Given the description of an element on the screen output the (x, y) to click on. 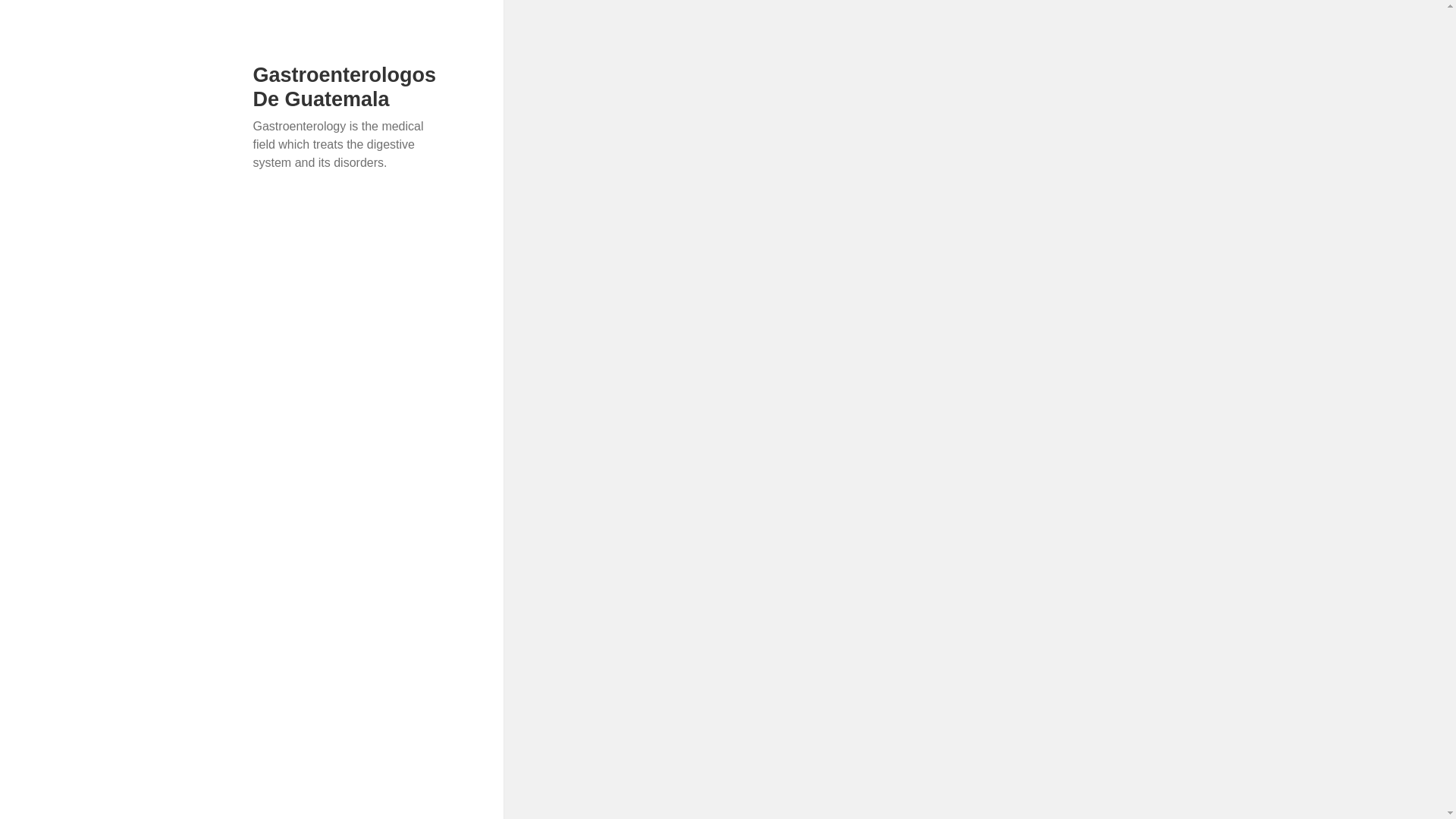
Gastroenterologos De Guatemala (344, 86)
